Given the description of an element on the screen output the (x, y) to click on. 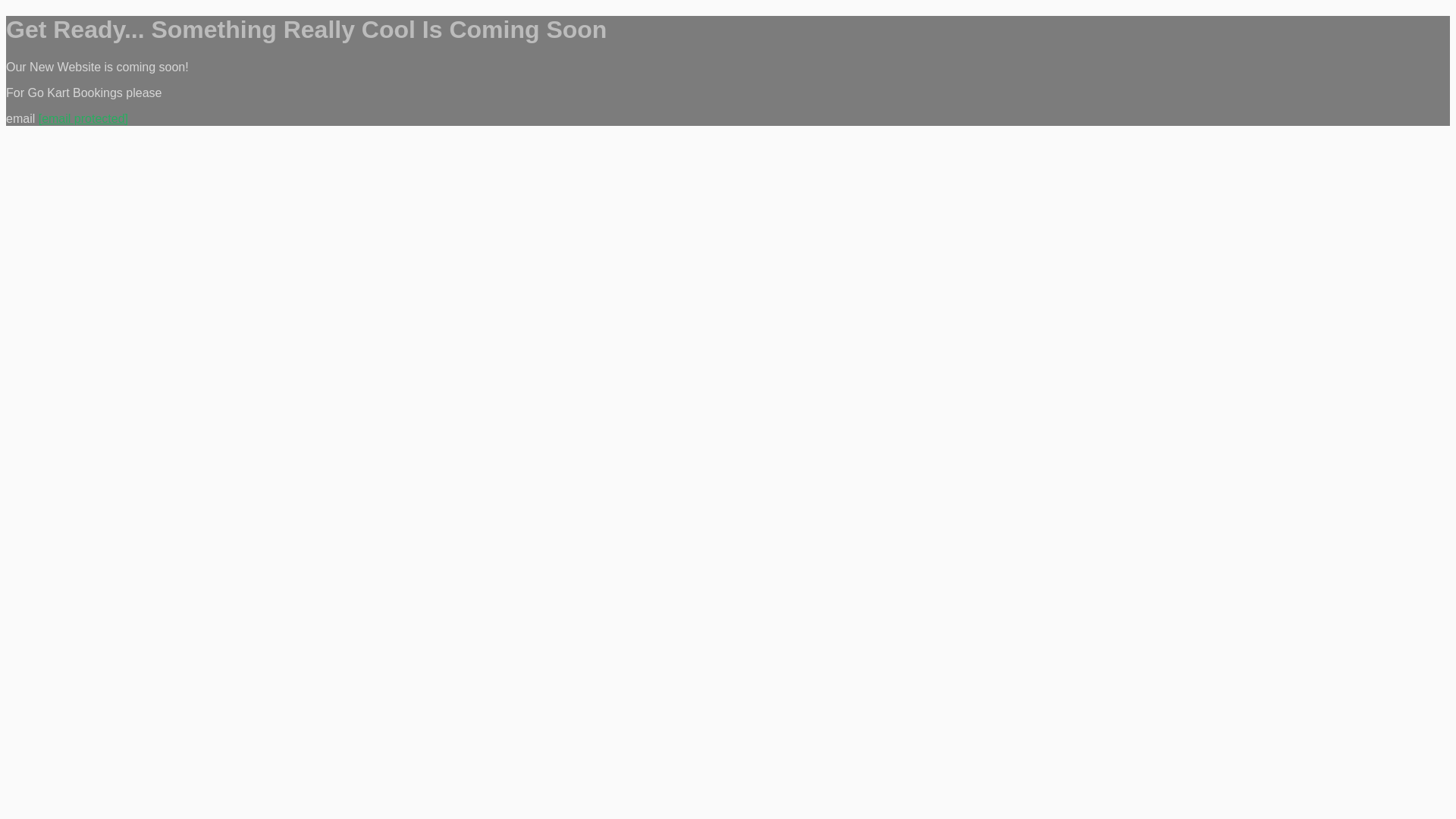
[email protected] Element type: text (83, 118)
